Given the description of an element on the screen output the (x, y) to click on. 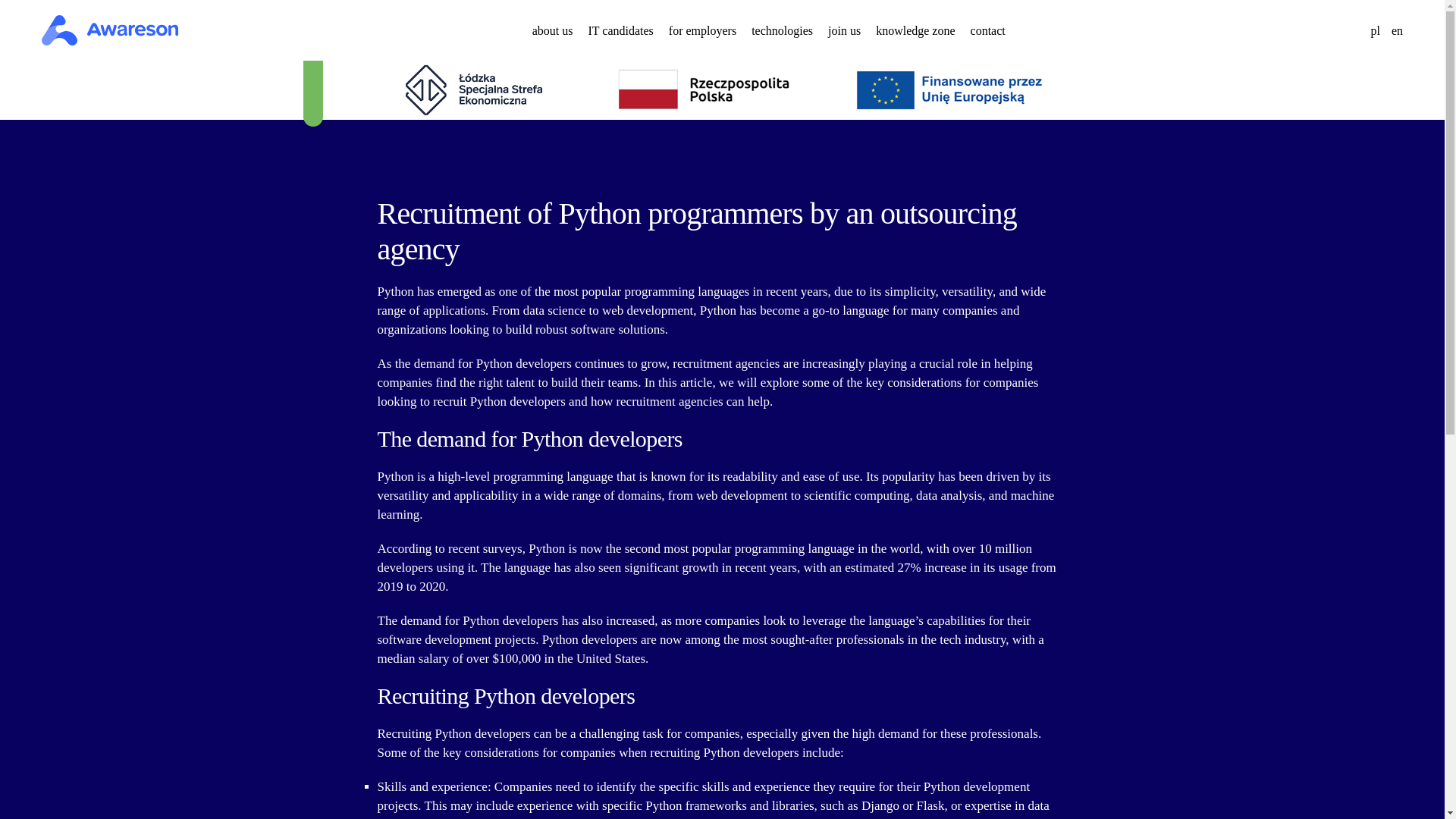
IT candidates (620, 30)
technologies (781, 30)
about us (552, 30)
contact (988, 30)
for employers (702, 30)
join us (844, 30)
knowledge zone (915, 30)
